Given the description of an element on the screen output the (x, y) to click on. 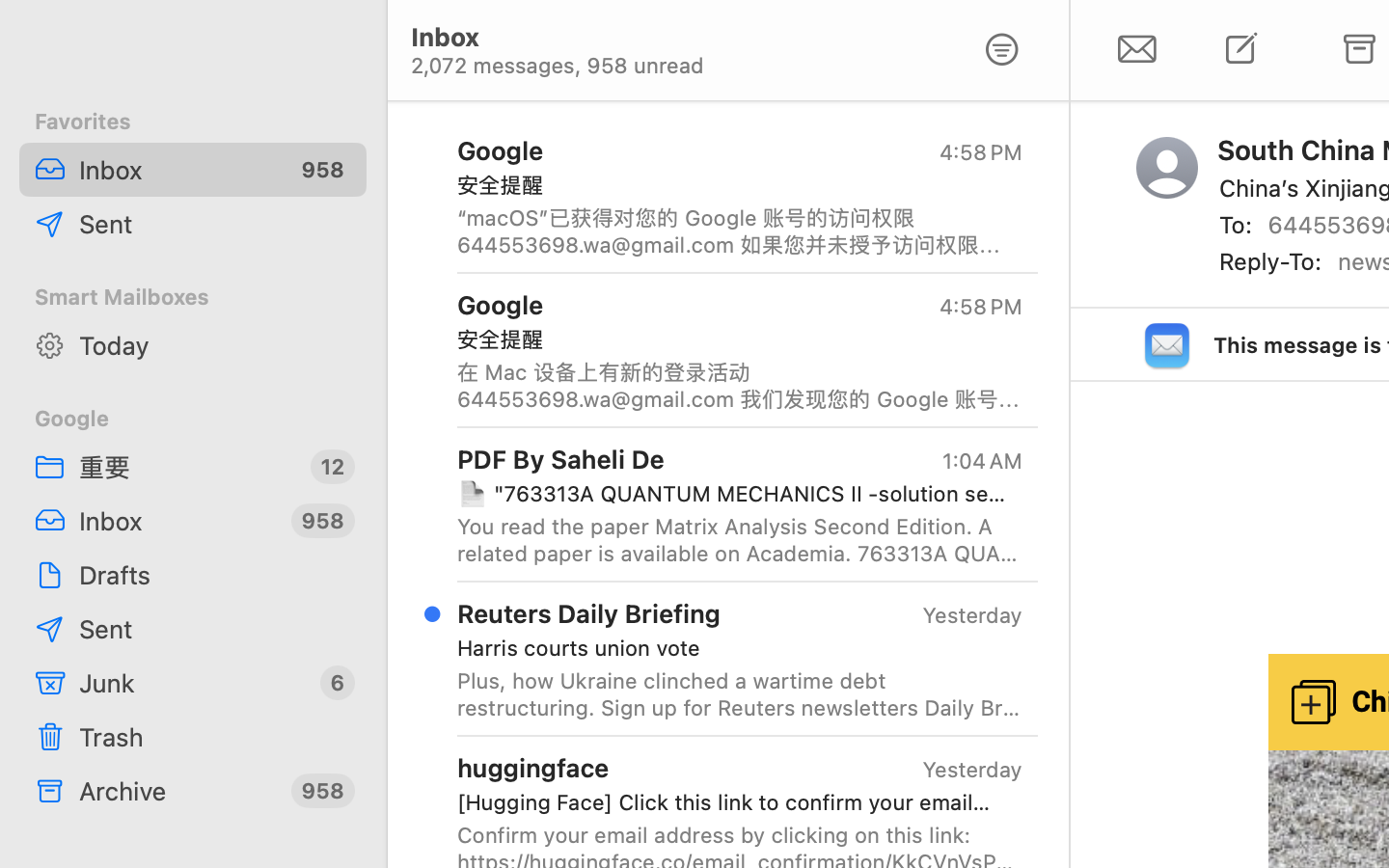
Inbox Element type: AXStaticText (177, 169)
“macOS”已获得对您的 Google 账号的访问权限 644553698.wa@gmail.com 如果您并未授予访问权限，则应检查此活动，并确保您的账号安全。 查看活动 您也可以访问以下网址查看安全性活动： https://myaccount.google.com/notifications 我们向您发送这封电子邮件，目的是让您了解关于您的 Google 账号和服务的重大变化。 © 2024 Google LLC, 1600 Amphitheatre Parkway, Mountain View, CA 94043, USA Element type: AXStaticText (739, 231)
Plus, how Ukraine clinched a wartime debt restructuring. Sign up for Reuters newsletters Daily Briefing Daily Briefing By Edson Caldas Kamala Harris said that US Steel should remain in domestic hands, making a pitch to working-class voters in Pennsylvania who are also being courted by her rival Donald Trump. Elsewhere, we cover Britain's partial suspension of arms export licenses to Israel, and a slump in Intel's share price. Plus, why South Korea's beloved Kimchi is at risk. Today's Top News Kamala Harris with Joe Biden's first appearance together at a rally since she became the Democratic nominee. REUTERS/Quinn Glabicki US election Democratic presidential candidate Kamala Harris used campaign events in Michigan and Pennsylvania, two battleground states, to court the crucial labor vote. Harris has neutralized Donald Trump's edge on the economy among Hispanic voters, and her 13 percentage point lead within that group reflects the fact they vastly prefer her approach to healthcare and c Element type: AXStaticText (739, 694)
📄 "763313A QUANTUM MECHANICS II -solution set 2 -spring 2014" by Saheli De Element type: AXStaticText (731, 493)
PDF By Saheli De Element type: AXStaticText (561, 458)
